Given the description of an element on the screen output the (x, y) to click on. 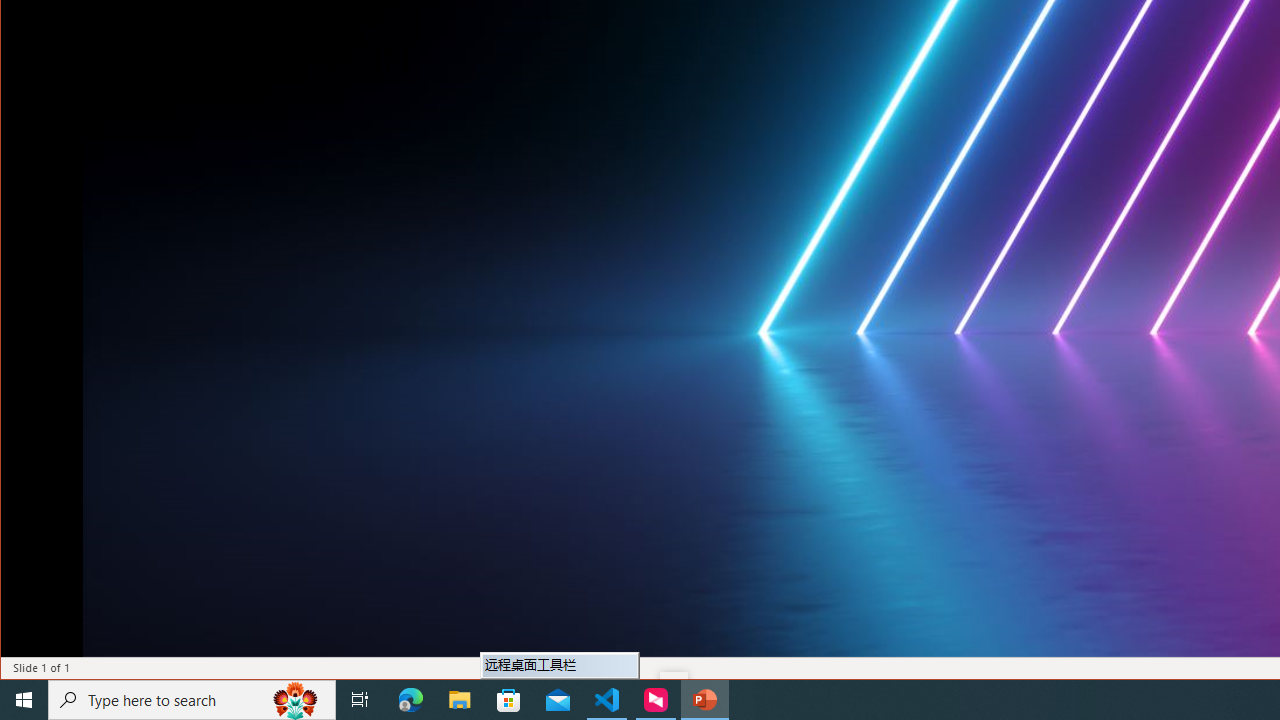
Visual Studio Code - 1 running window (607, 699)
File Explorer (460, 699)
Task View (359, 699)
Type here to search (191, 699)
Search highlights icon opens search home window (295, 699)
PowerPoint - 1 running window (704, 699)
Microsoft Edge (411, 699)
Microsoft Store (509, 699)
Start (24, 699)
